Given the description of an element on the screen output the (x, y) to click on. 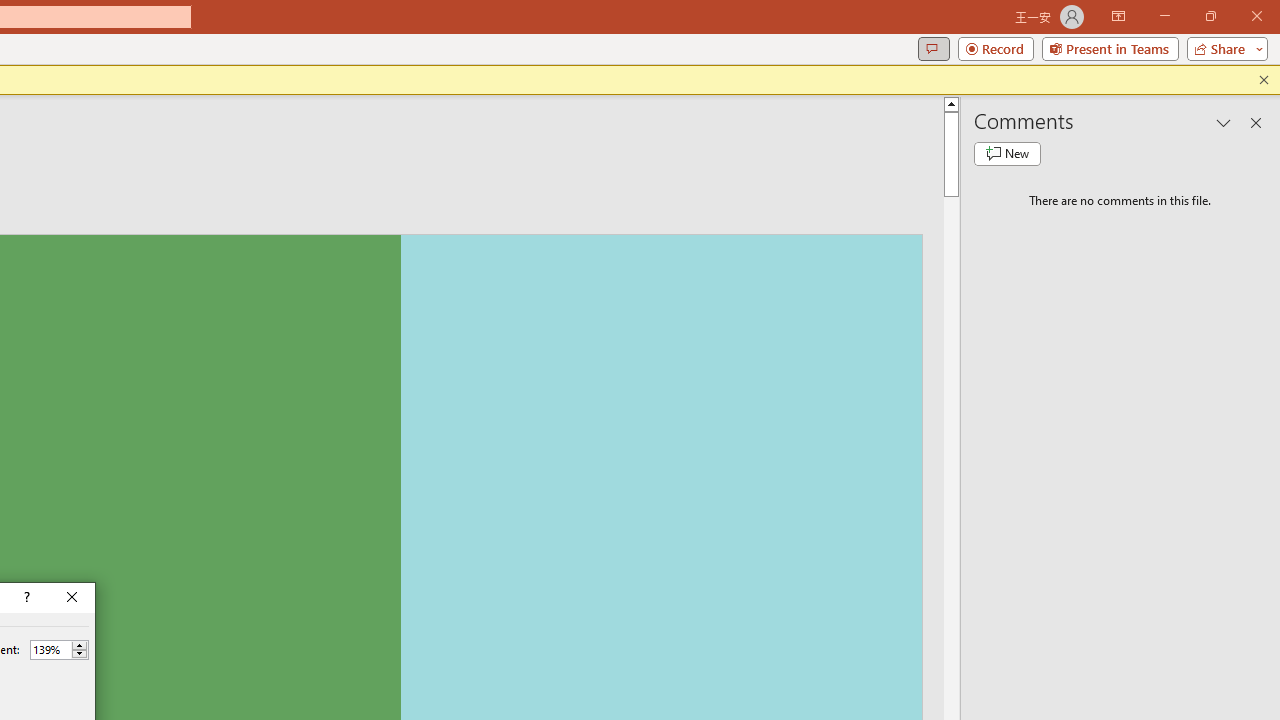
Less (79, 654)
Task Pane Options (1224, 122)
Close pane (1256, 122)
Ribbon Display Options (1118, 16)
Comments (933, 48)
Share (1223, 48)
Minimize (1164, 16)
Present in Teams (1109, 48)
New comment (1007, 153)
More (79, 645)
Percent (50, 649)
Restore Down (1210, 16)
Close (72, 597)
Record (995, 48)
